Given the description of an element on the screen output the (x, y) to click on. 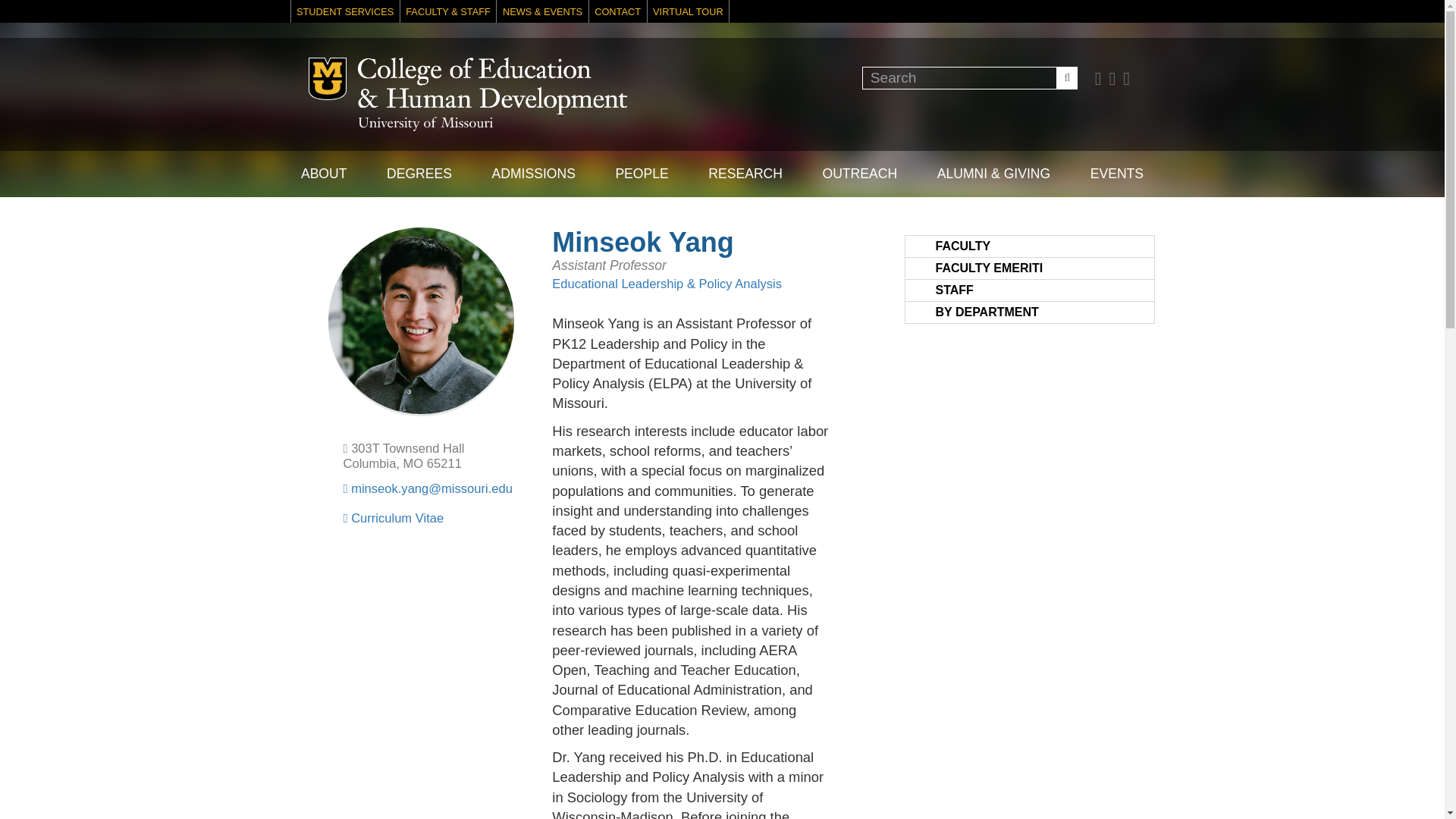
ADMISSIONS (532, 173)
Search: (969, 77)
DEGREES (419, 173)
SEARCH (1067, 77)
CONTACT (617, 11)
VIRTUAL TOUR (688, 11)
ABOUT (323, 173)
PEOPLE (640, 173)
University of Missouri (425, 124)
STUDENT SERVICES (344, 11)
